Given the description of an element on the screen output the (x, y) to click on. 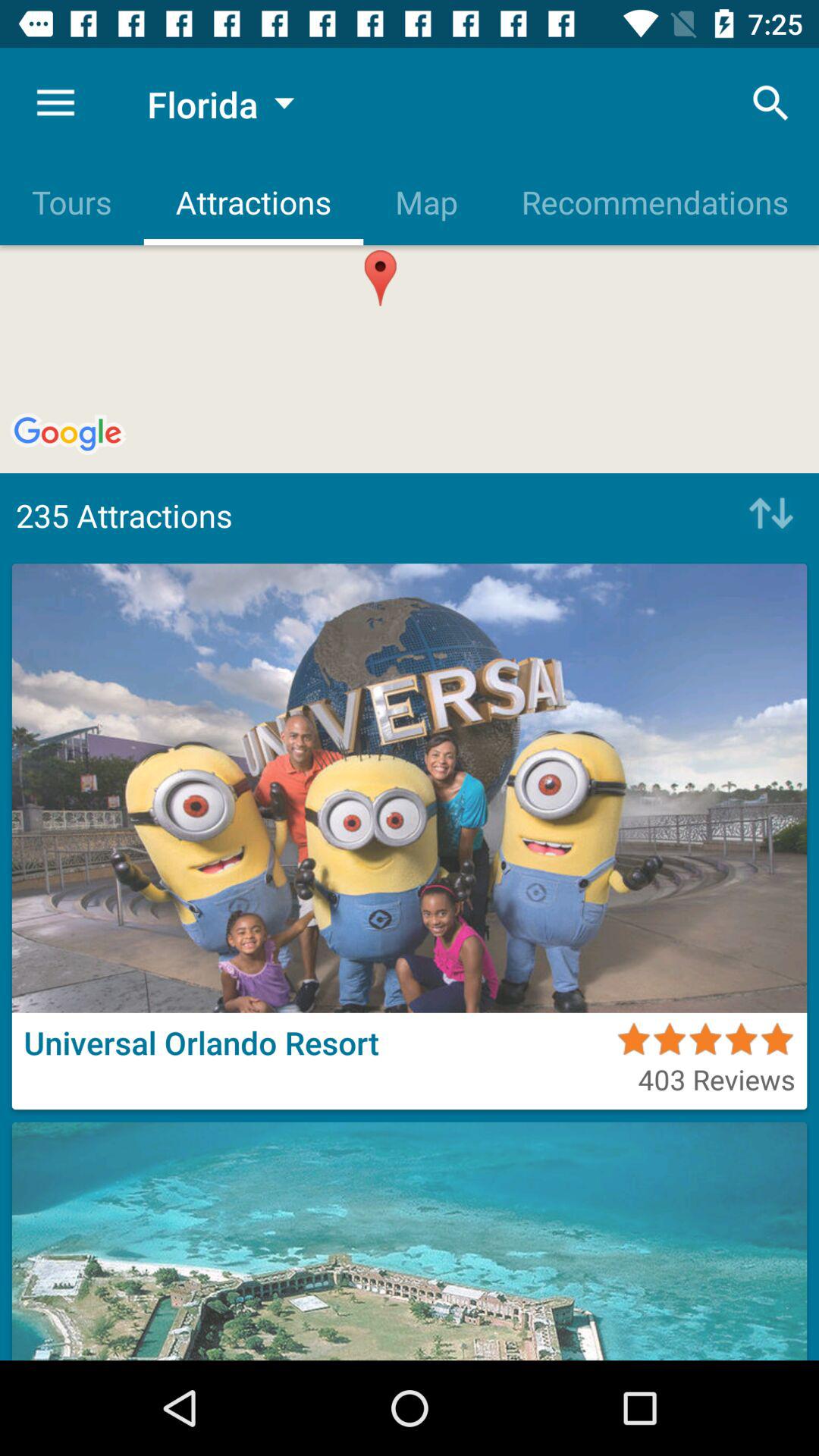
choose the tours app (71, 202)
